Given the description of an element on the screen output the (x, y) to click on. 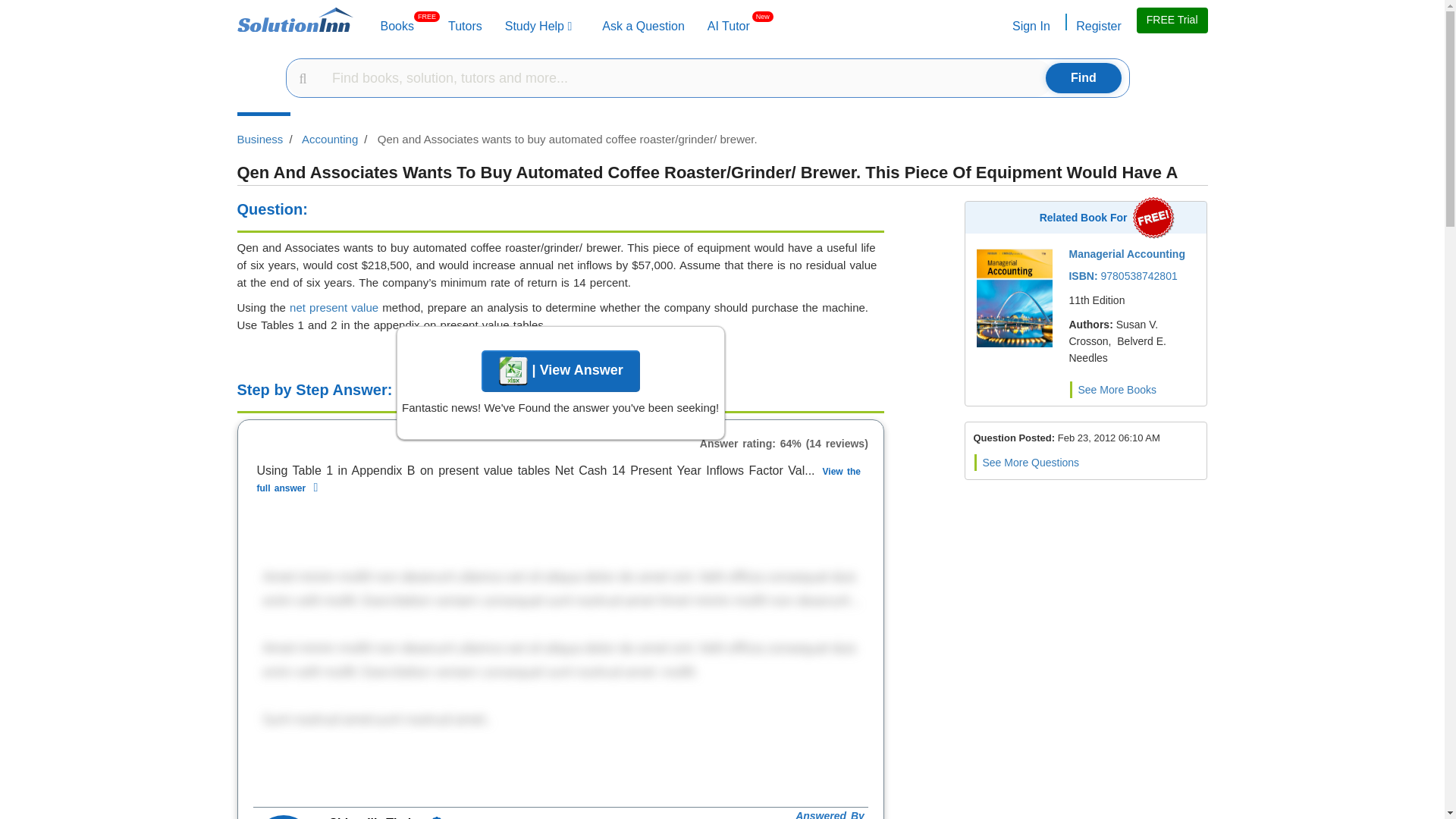
Sign In (1029, 26)
Posted Date (1109, 437)
Ask a Question (397, 26)
Study Help (643, 26)
Ask a Question (728, 26)
Tutors (538, 26)
Sign In (643, 26)
Study Help (728, 26)
Register (465, 26)
Tutors (1029, 26)
